Given the description of an element on the screen output the (x, y) to click on. 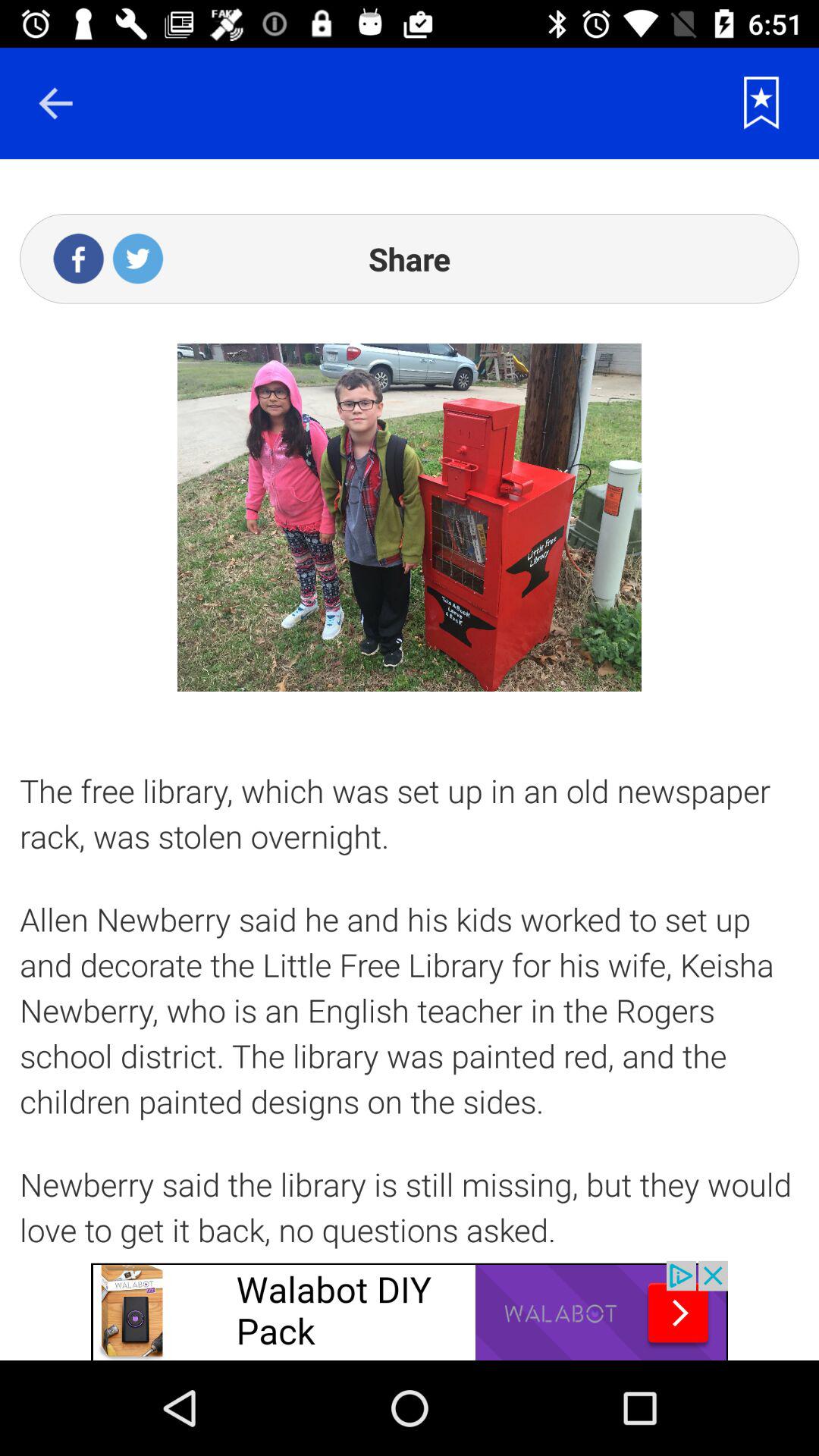
go to back (55, 103)
